Given the description of an element on the screen output the (x, y) to click on. 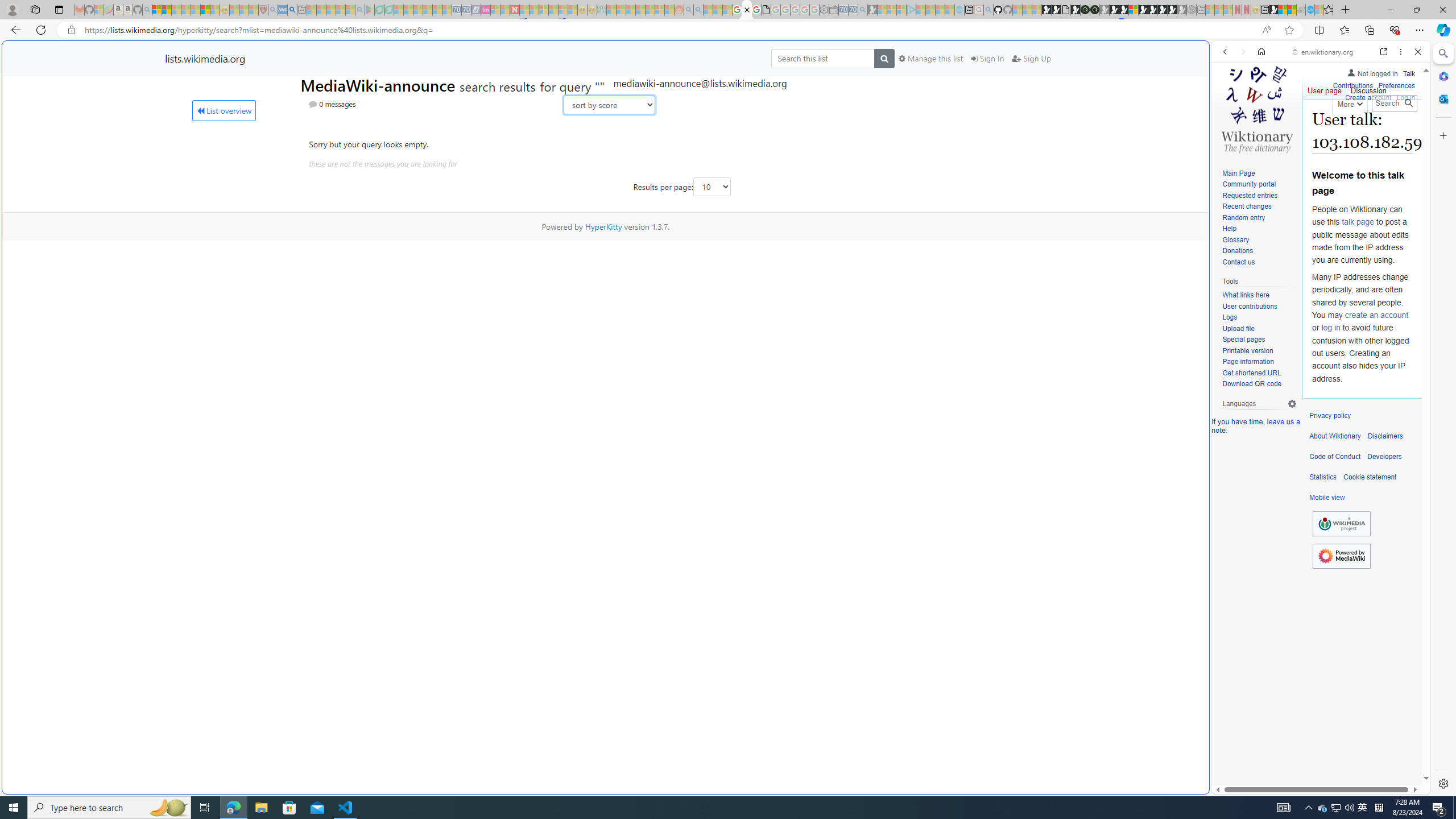
Code of Conduct (1334, 456)
Powered by MediaWiki (1341, 556)
